Given the description of an element on the screen output the (x, y) to click on. 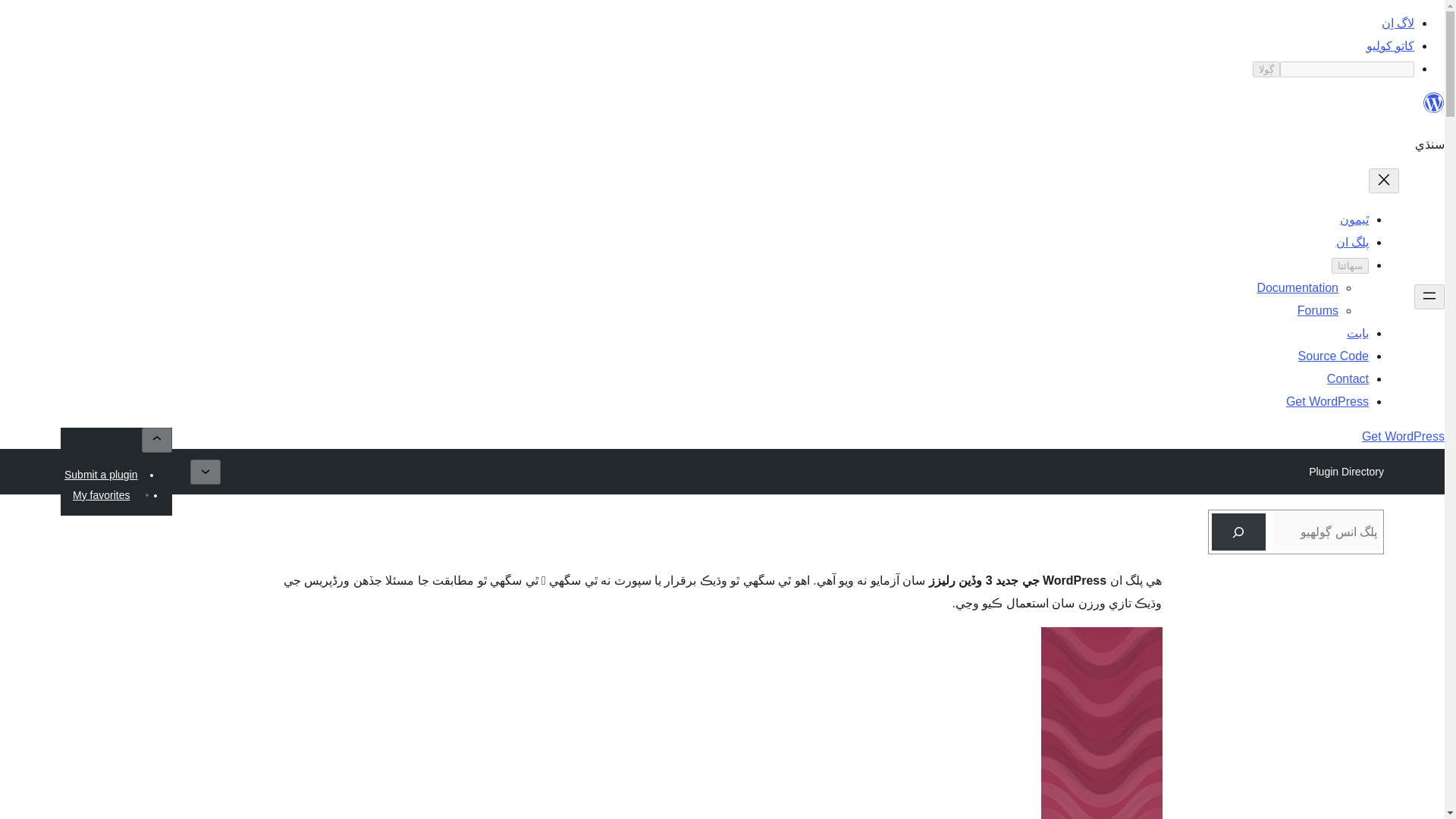
Forums (1317, 309)
My favorites (100, 495)
Get WordPress (1326, 400)
Plugin Directory (1345, 471)
Contact (1347, 378)
Source Code (1333, 355)
Submit a plugin (101, 474)
Documentation (1297, 287)
